Given the description of an element on the screen output the (x, y) to click on. 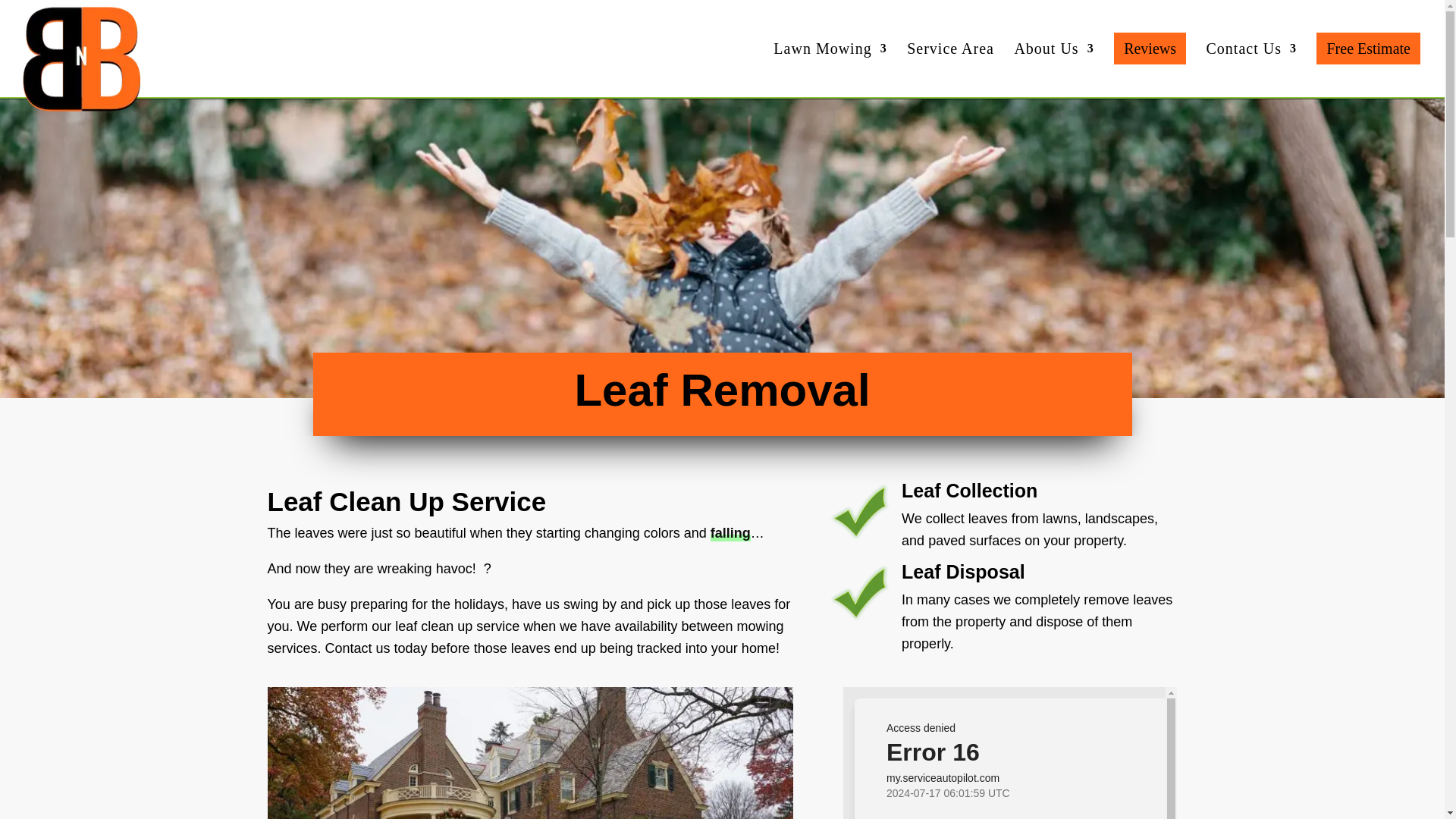
Contact Us (1252, 69)
Leaf Lawn Company (529, 753)
Free Estimate (1368, 64)
Service Area (950, 69)
About Us (1053, 69)
Lawn Mowing (829, 69)
falling (730, 532)
